Given the description of an element on the screen output the (x, y) to click on. 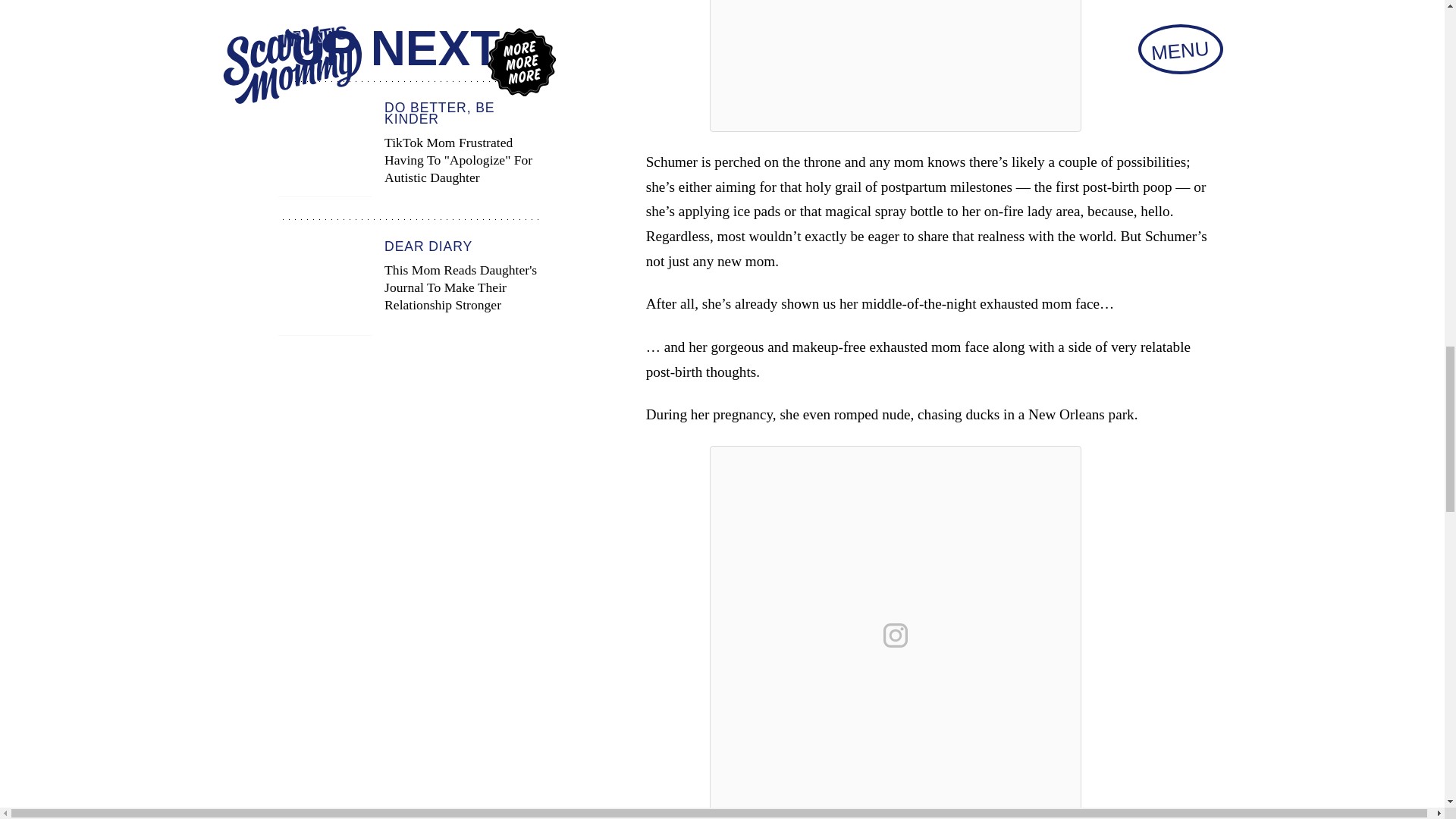
View on Instagram (895, 635)
